Given the description of an element on the screen output the (x, y) to click on. 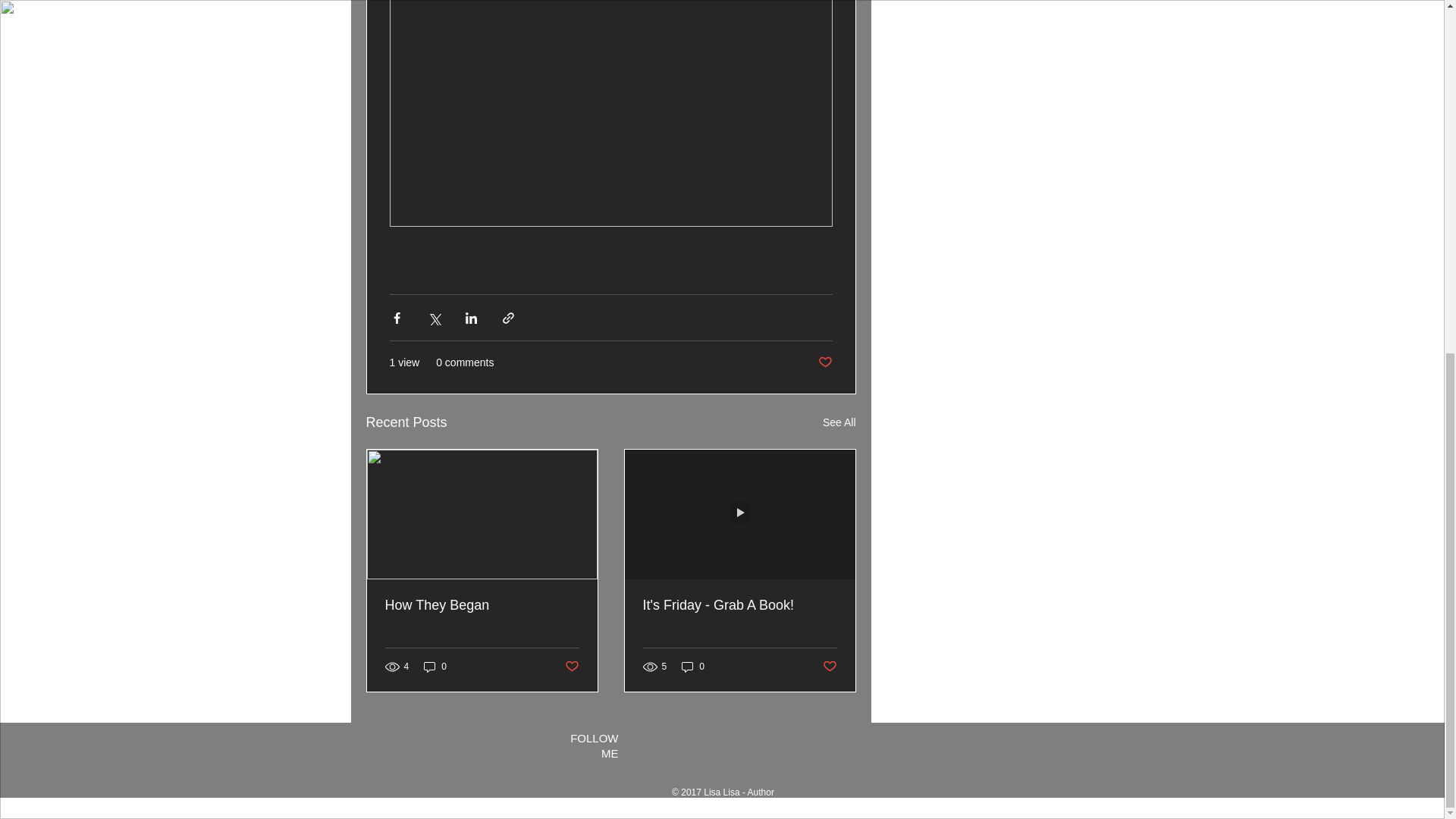
It's Friday - Grab A Book! (740, 605)
Post not marked as liked (823, 362)
Post not marked as liked (828, 666)
Post not marked as liked (571, 666)
See All (839, 422)
How They Began (482, 605)
0 (435, 667)
0 (692, 667)
